Given the description of an element on the screen output the (x, y) to click on. 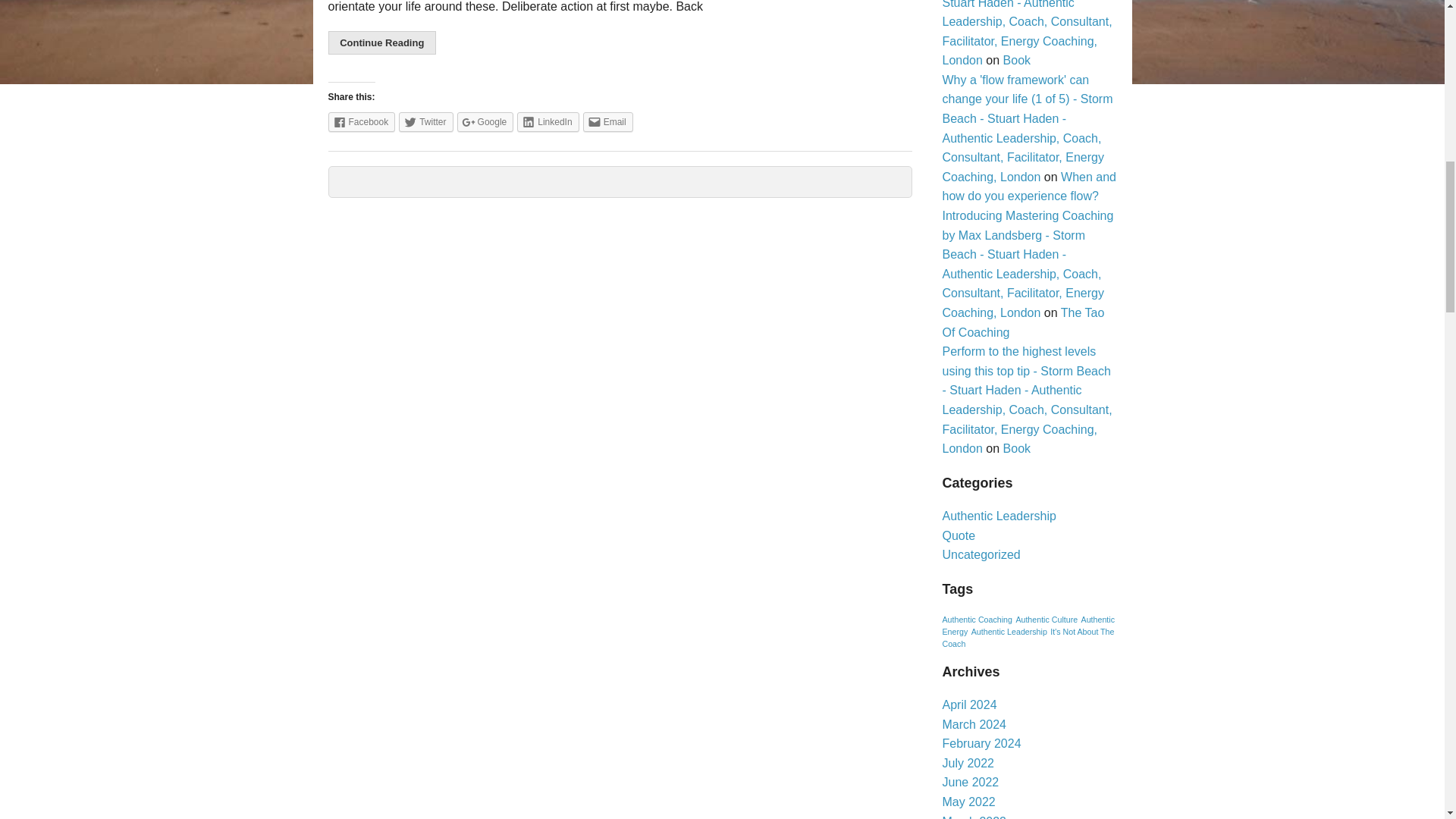
Click to share on Twitter (425, 121)
Click to share on LinkedIn (547, 121)
Click to share on Facebook (360, 121)
LinkedIn (547, 121)
Google (485, 121)
Twitter (425, 121)
Facebook (360, 121)
Continue Reading (381, 42)
Email (608, 121)
